Given the description of an element on the screen output the (x, y) to click on. 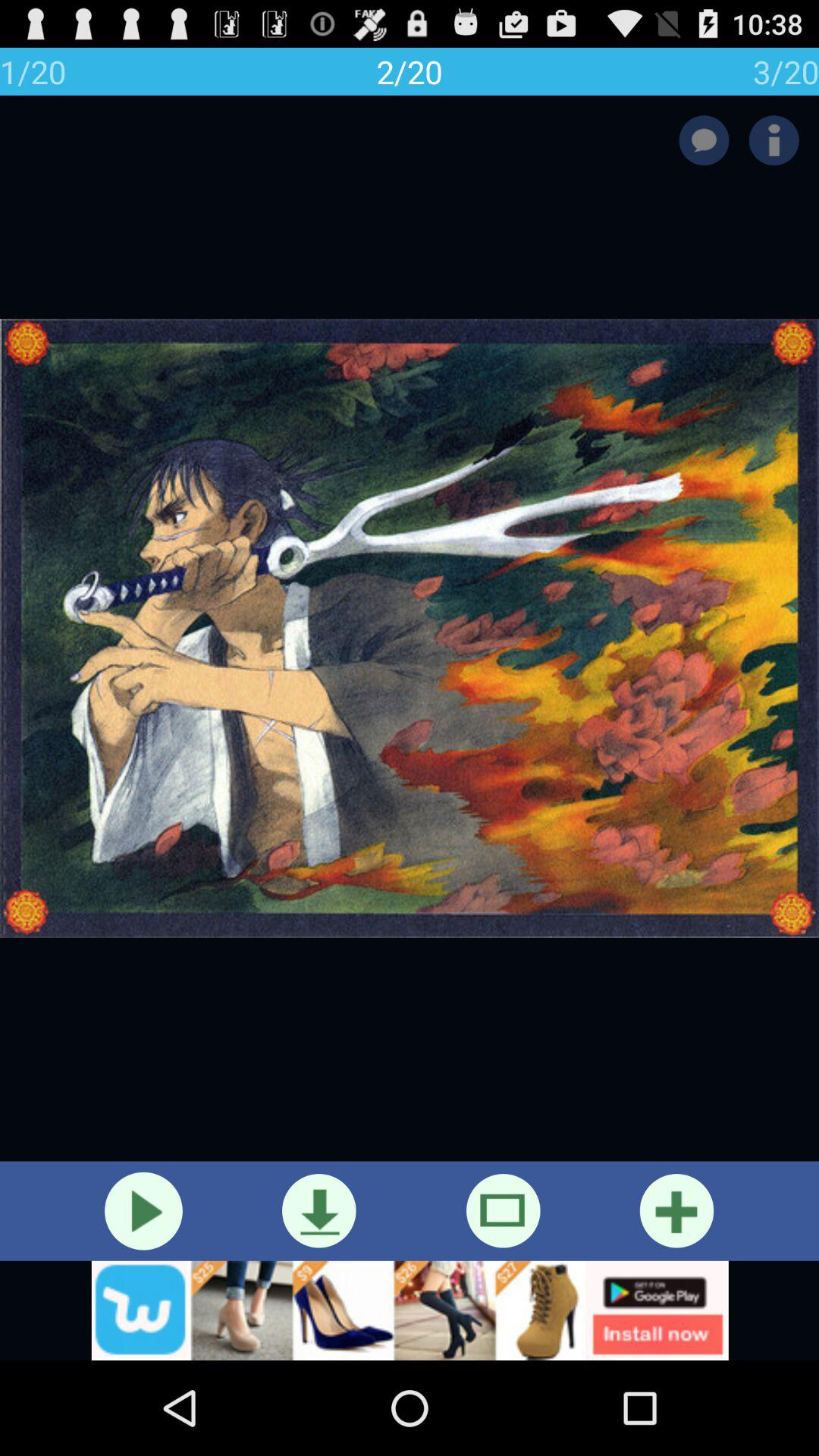
play video (143, 1211)
